Given the description of an element on the screen output the (x, y) to click on. 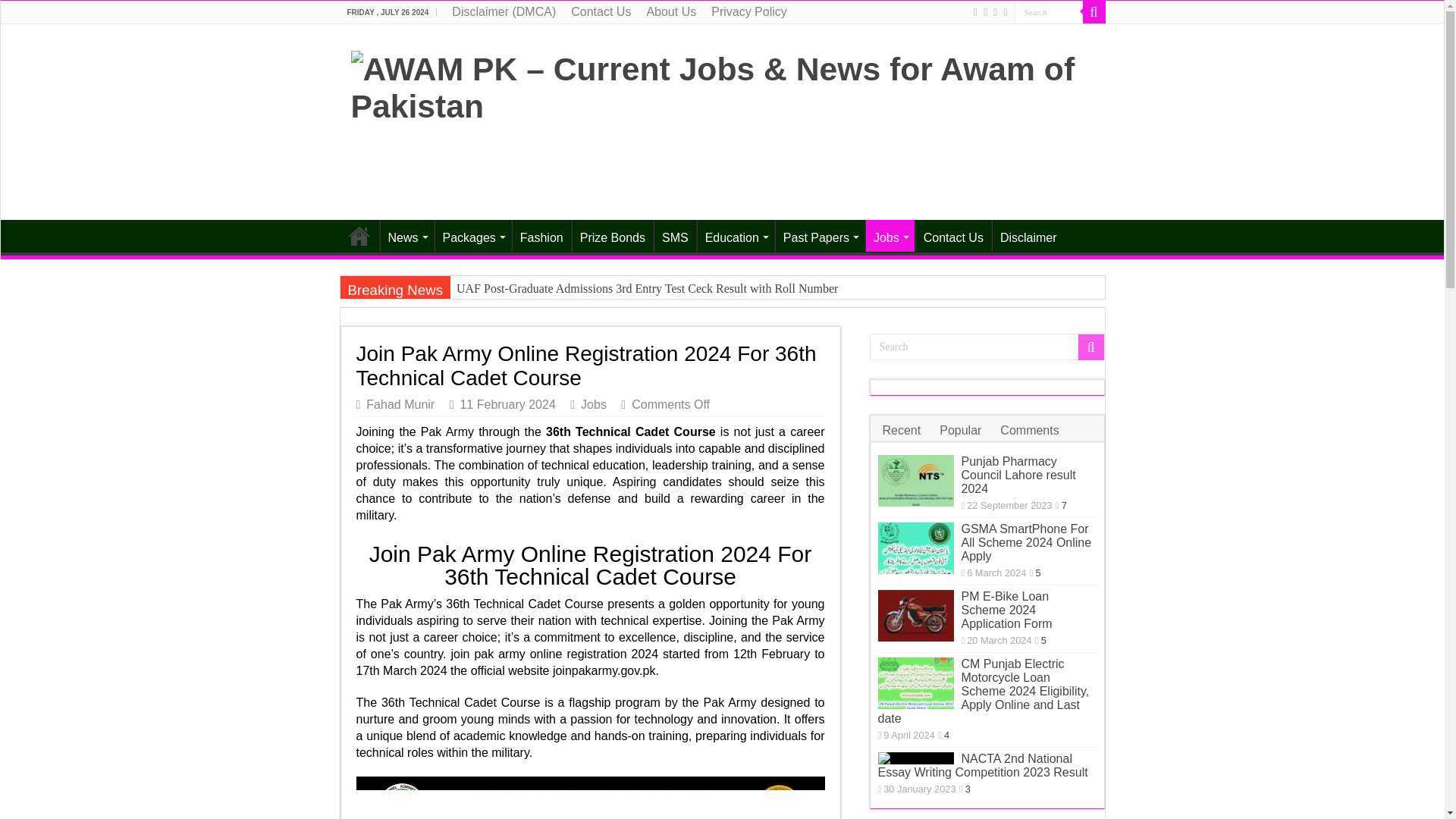
Prize Bonds (612, 235)
Search (1048, 11)
Search (986, 346)
Search (1048, 11)
Search (1094, 11)
Search (1048, 11)
Packages (472, 235)
Home (358, 235)
Privacy Policy (748, 11)
About Us (671, 11)
Contact Us (601, 11)
Education (735, 235)
SMS (674, 235)
News (405, 235)
